Given the description of an element on the screen output the (x, y) to click on. 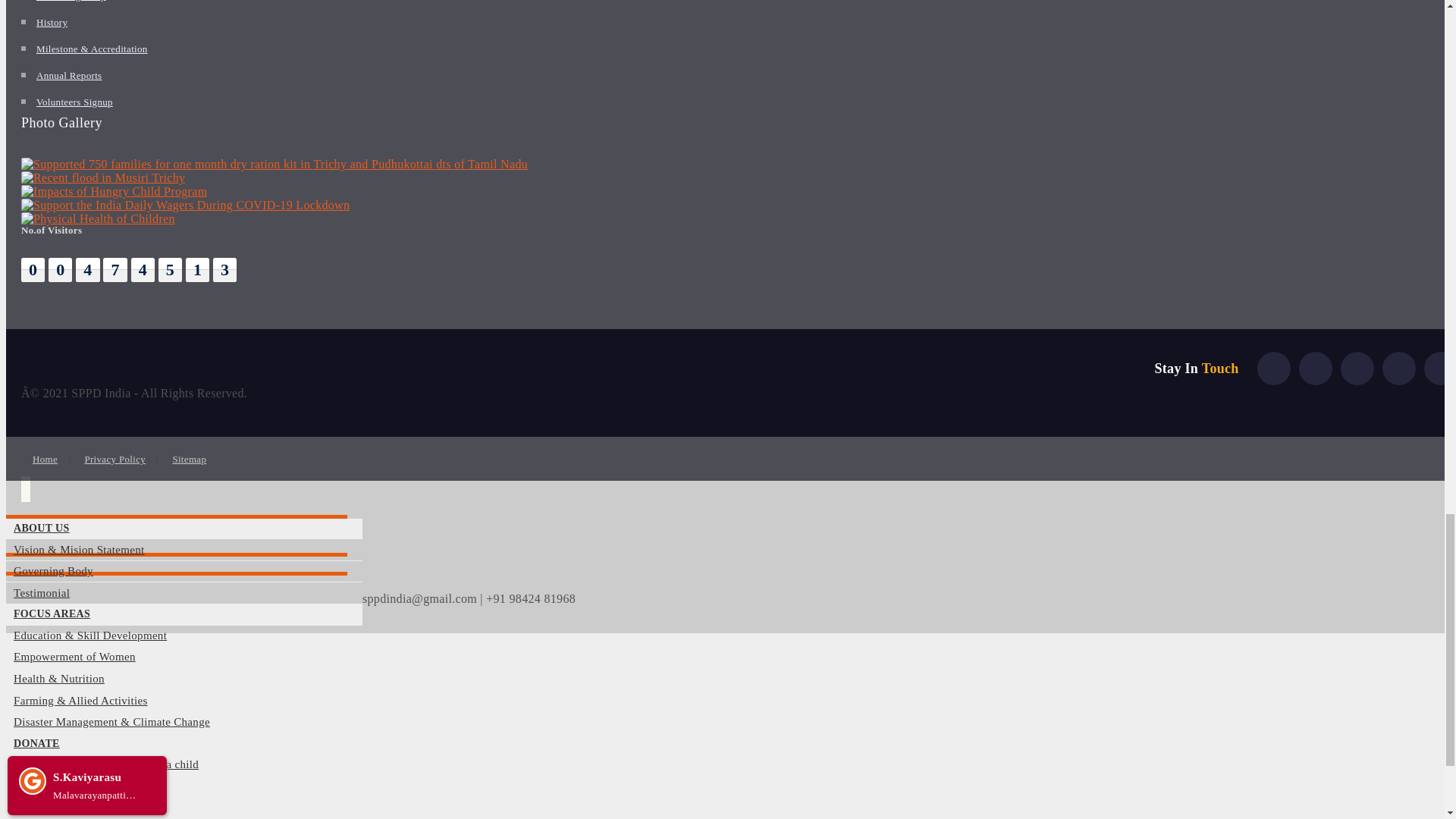
Volunteers Signup (74, 101)
History (51, 21)
Governing Body (71, 0)
Annual Reports (68, 75)
